Given the description of an element on the screen output the (x, y) to click on. 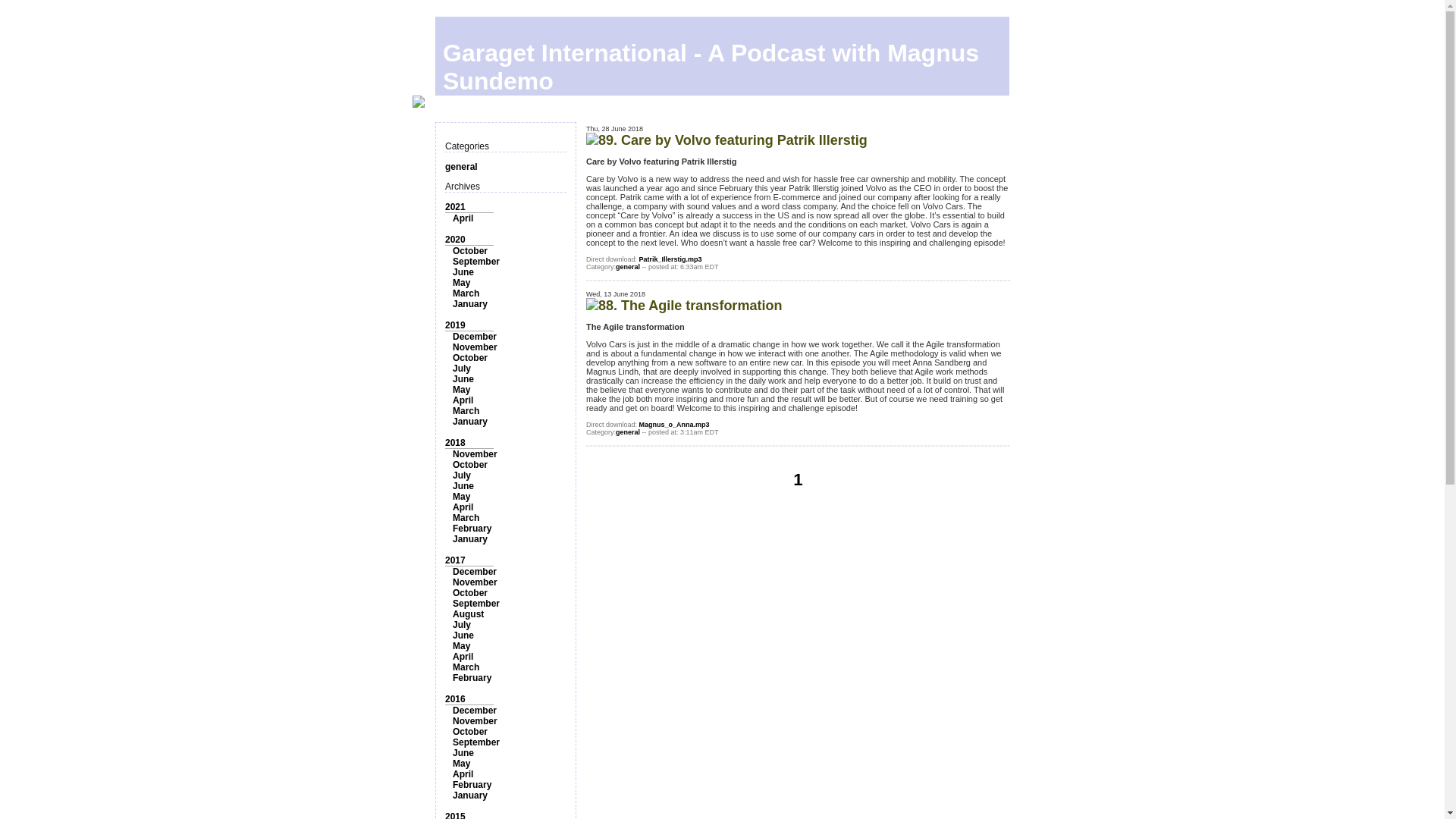
June (463, 271)
October (469, 464)
April (462, 217)
May (461, 389)
April (462, 399)
March (465, 517)
general (461, 166)
November (474, 453)
January (469, 303)
April (462, 507)
